Given the description of an element on the screen output the (x, y) to click on. 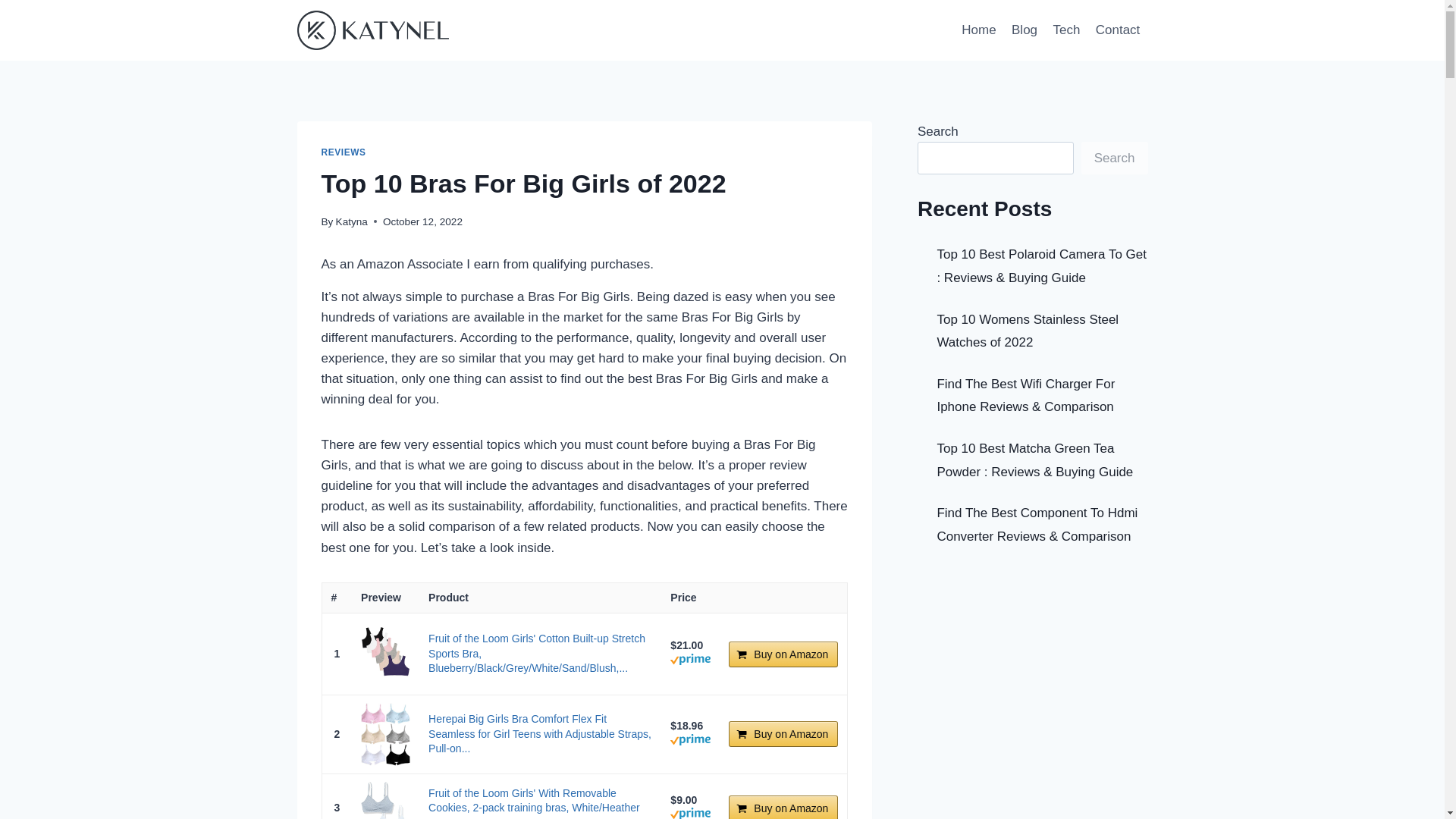
Katyna (352, 221)
Home (978, 30)
Buy on Amazon (783, 807)
REVIEWS (343, 152)
Buy on Amazon (783, 654)
Buy on Amazon (783, 733)
Amazon Prime (689, 814)
Buy on Amazon (783, 654)
Buy on Amazon (783, 807)
Tech (1066, 30)
Buy on Amazon (783, 733)
Amazon Prime (689, 741)
Blog (1024, 30)
Contact (1117, 30)
